Given the description of an element on the screen output the (x, y) to click on. 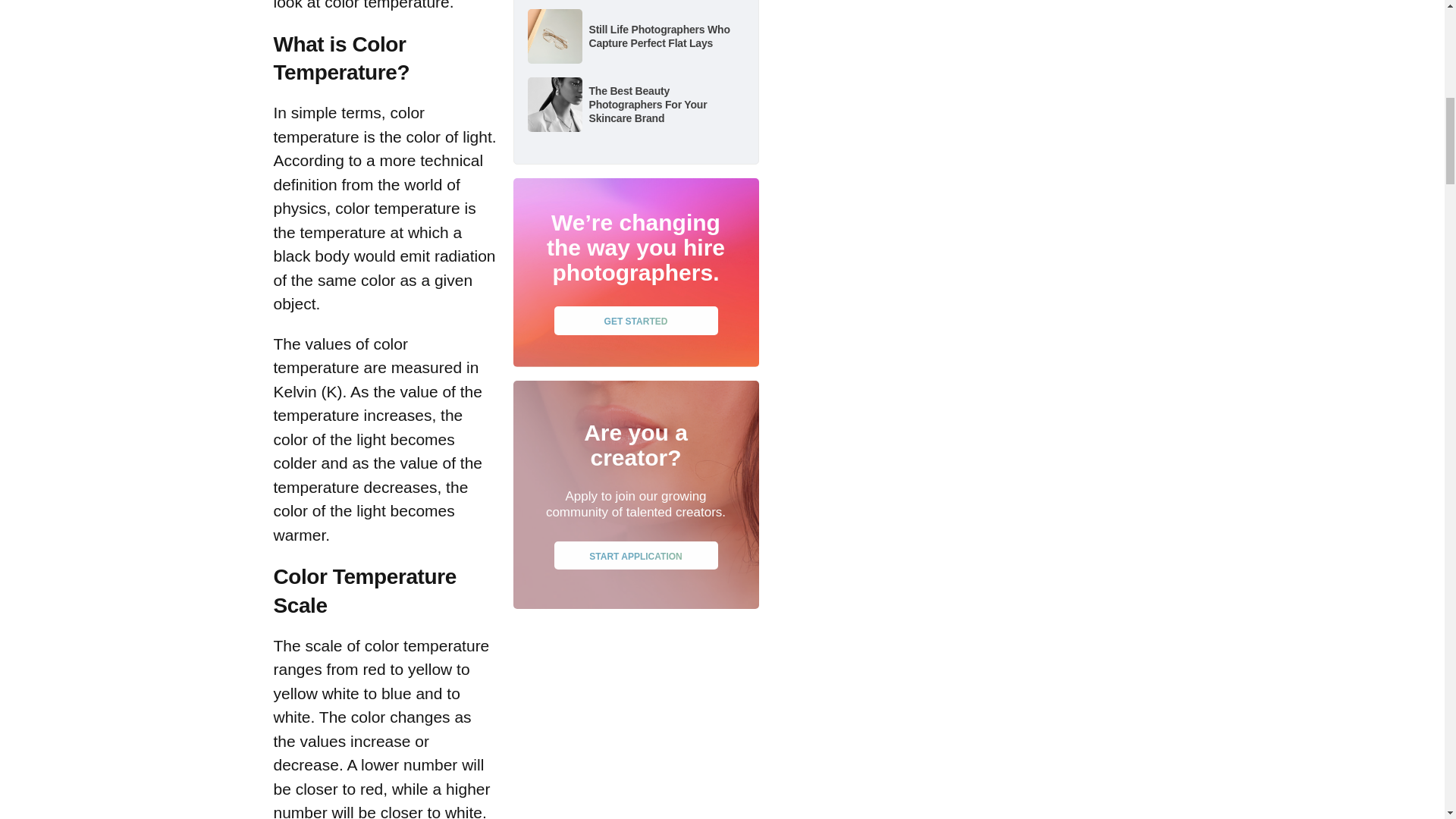
The Best Beauty Photographers For Your Skincare Brand (647, 104)
Still Life Photographers Who Capture Perfect Flat Lays (658, 36)
